Given the description of an element on the screen output the (x, y) to click on. 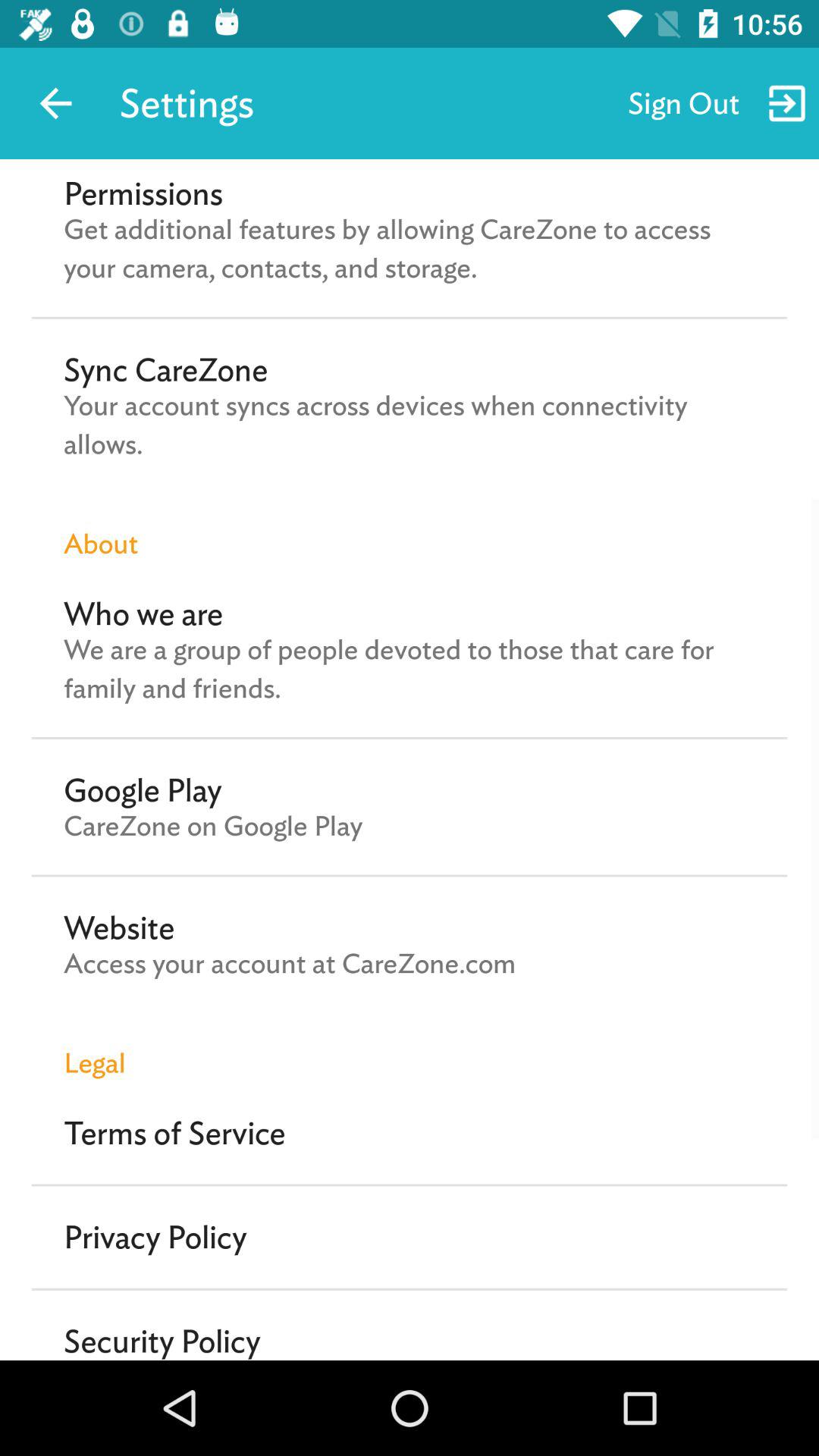
press the icon above permissions (55, 103)
